Given the description of an element on the screen output the (x, y) to click on. 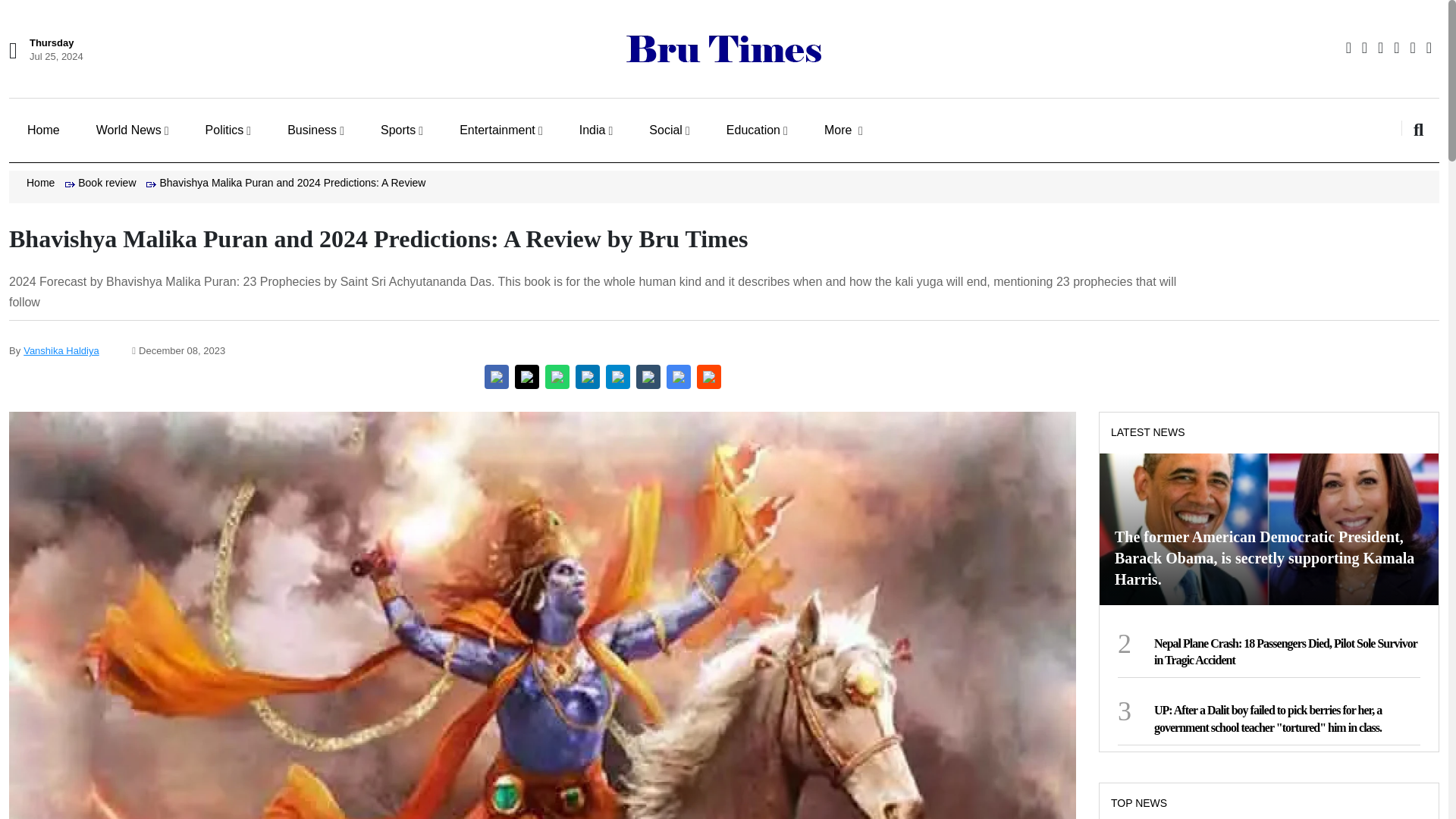
Entertainment (500, 130)
Politics (228, 130)
Business (315, 130)
World News (132, 130)
Sports (401, 130)
